Given the description of an element on the screen output the (x, y) to click on. 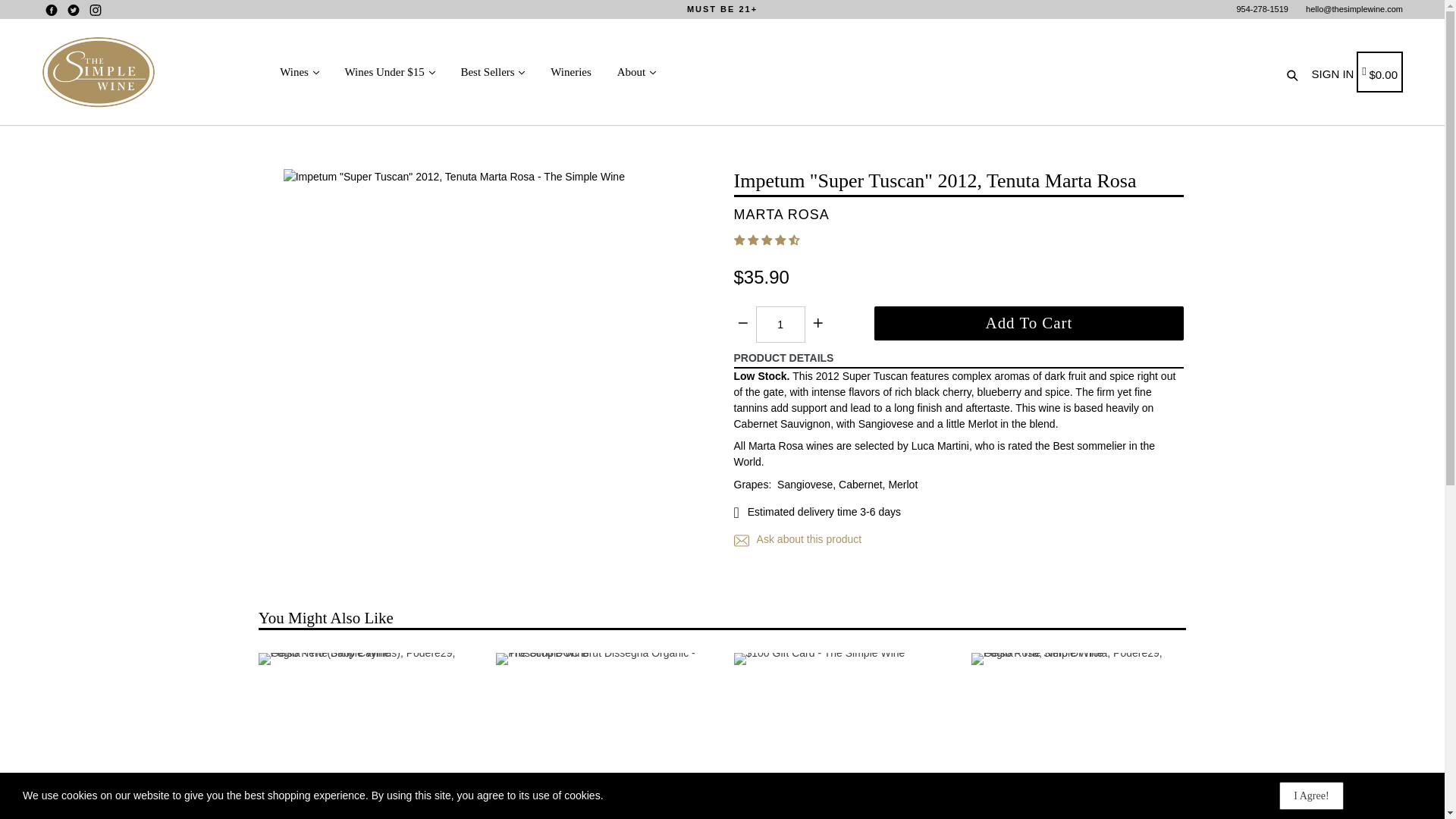
The Simple Wine on Facebook (51, 10)
The Simple Wine on Twitter (73, 10)
The Simple Wine on Instagram (94, 10)
1 (780, 324)
